Given the description of an element on the screen output the (x, y) to click on. 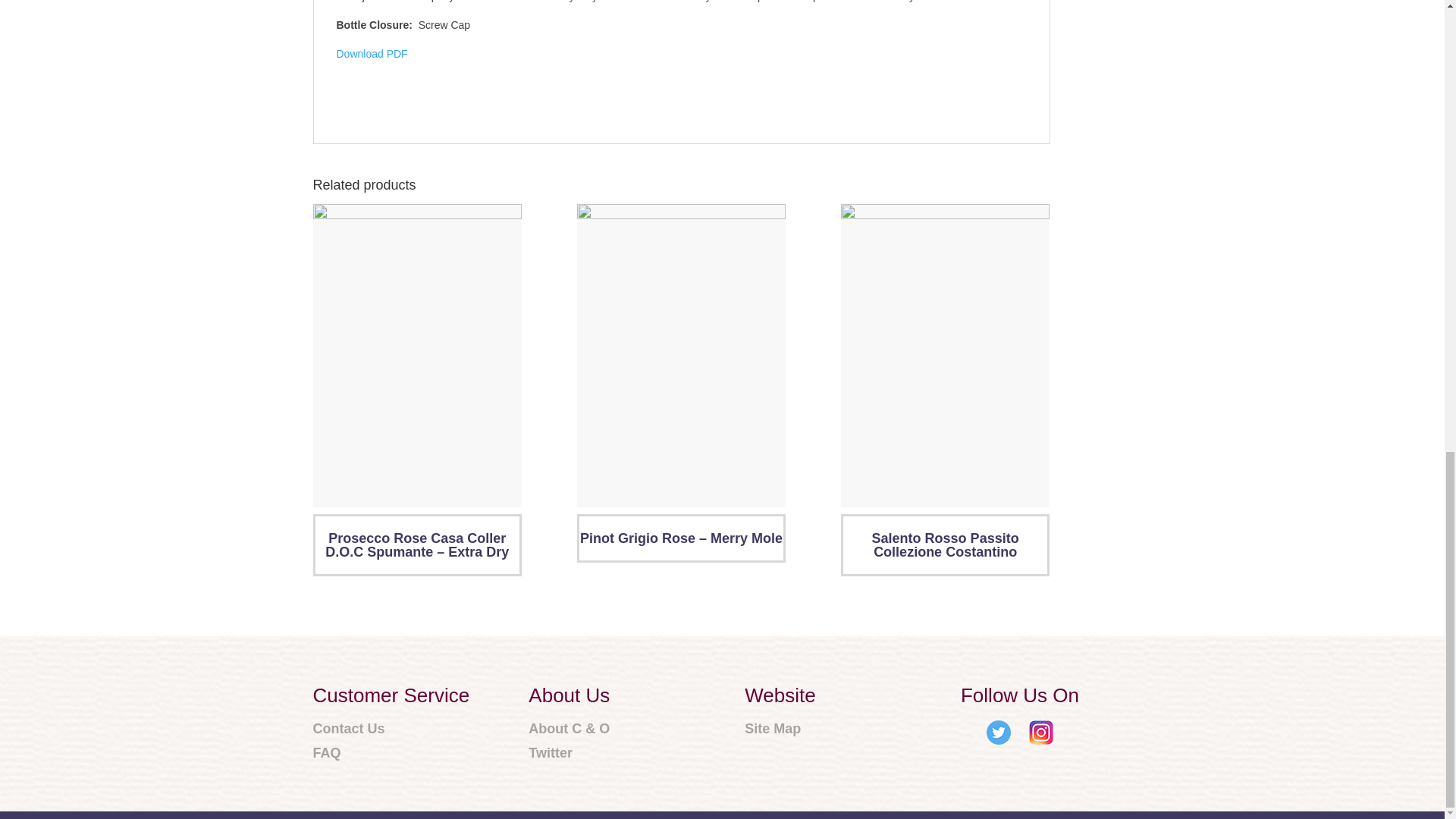
Site Map (779, 729)
Contact Us (390, 729)
Download PDF (371, 53)
FAQ (390, 753)
Twitter (569, 753)
